Given the description of an element on the screen output the (x, y) to click on. 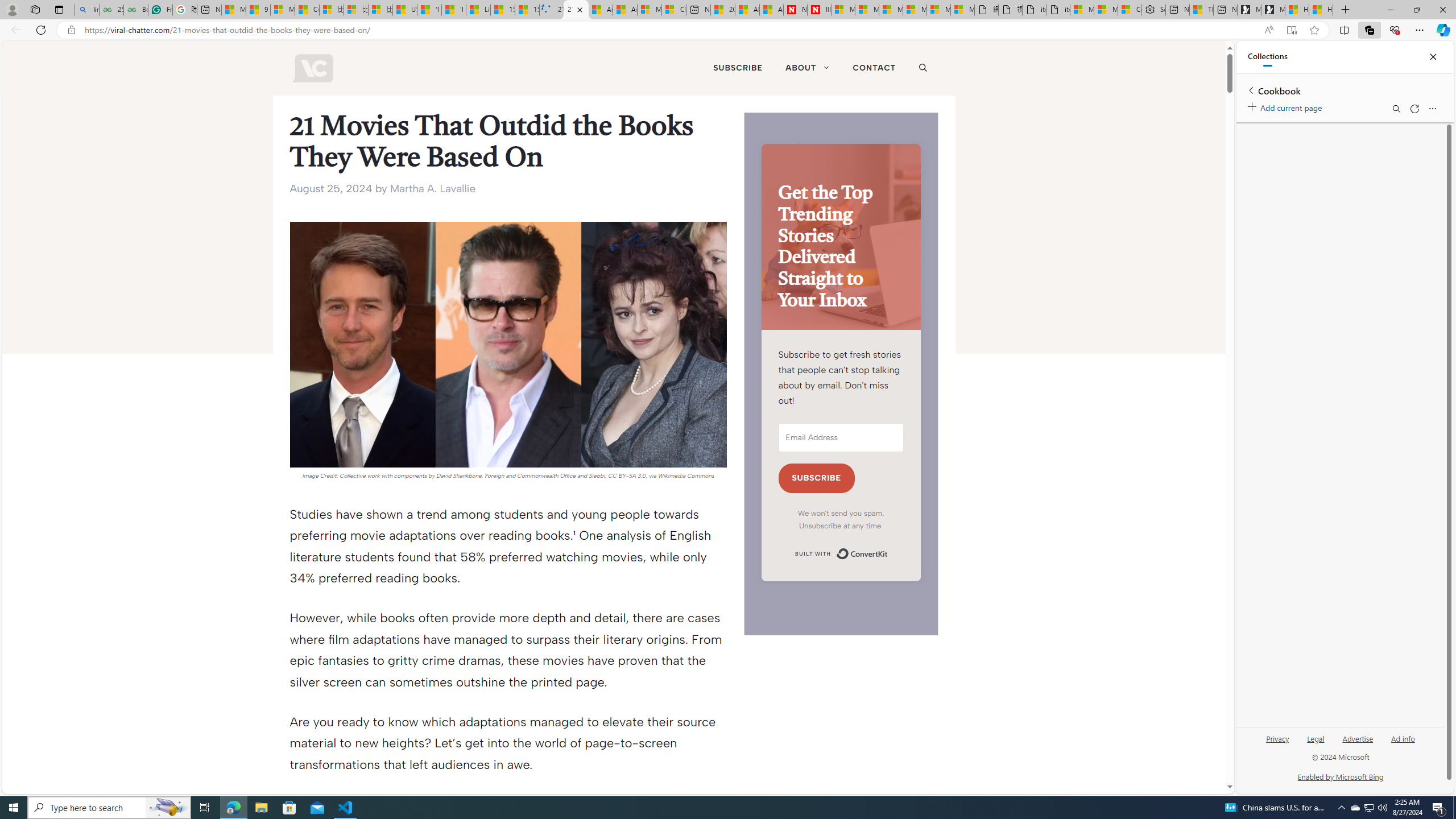
Best SSL Certificates Provider in India - GeeksforGeeks (135, 9)
Open search (923, 67)
20 Ways to Boost Your Protein Intake at Every Meal (722, 9)
Ad info (1402, 738)
Back to list of collections (1250, 90)
Legal (1315, 738)
More options menu (1432, 108)
